Given the description of an element on the screen output the (x, y) to click on. 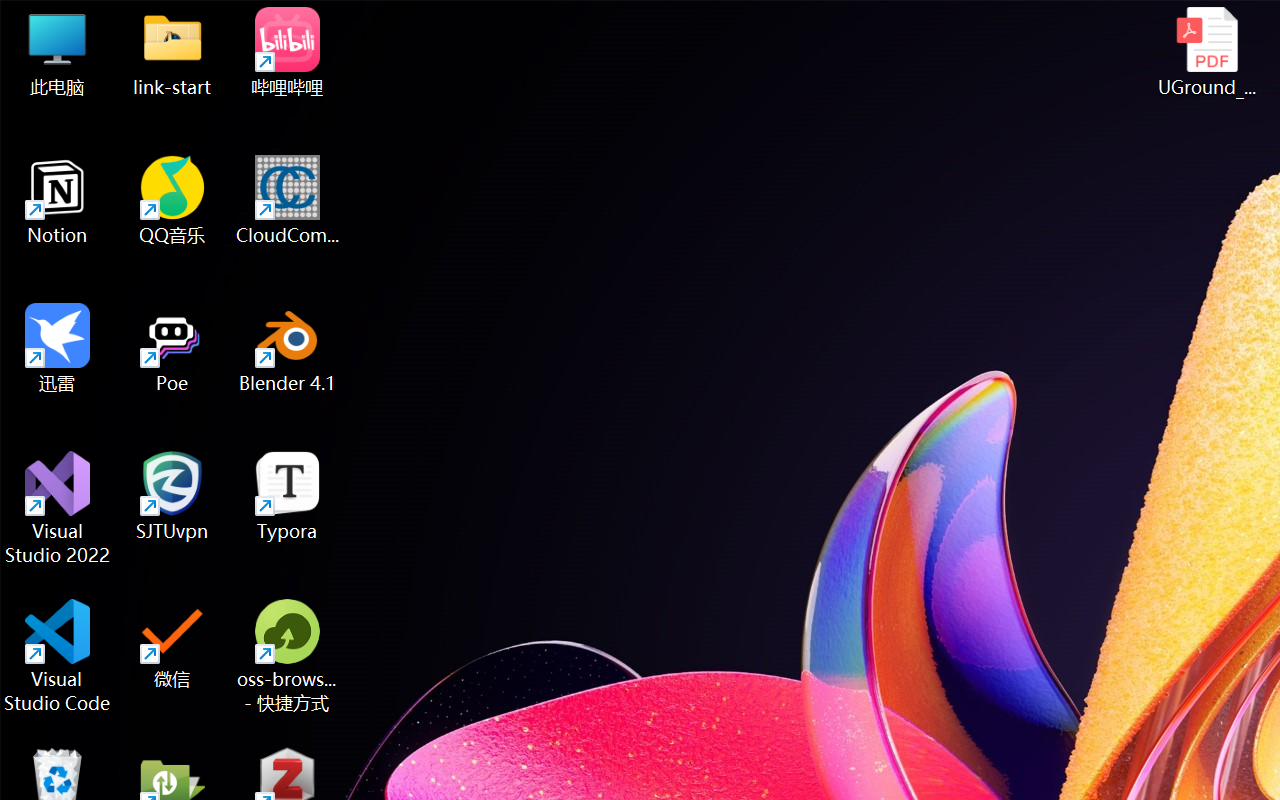
Typora (287, 496)
Visual Studio Code (57, 656)
SJTUvpn (172, 496)
UGround_paper.pdf (1206, 52)
Blender 4.1 (287, 348)
Visual Studio 2022 (57, 508)
CloudCompare (287, 200)
